Given the description of an element on the screen output the (x, y) to click on. 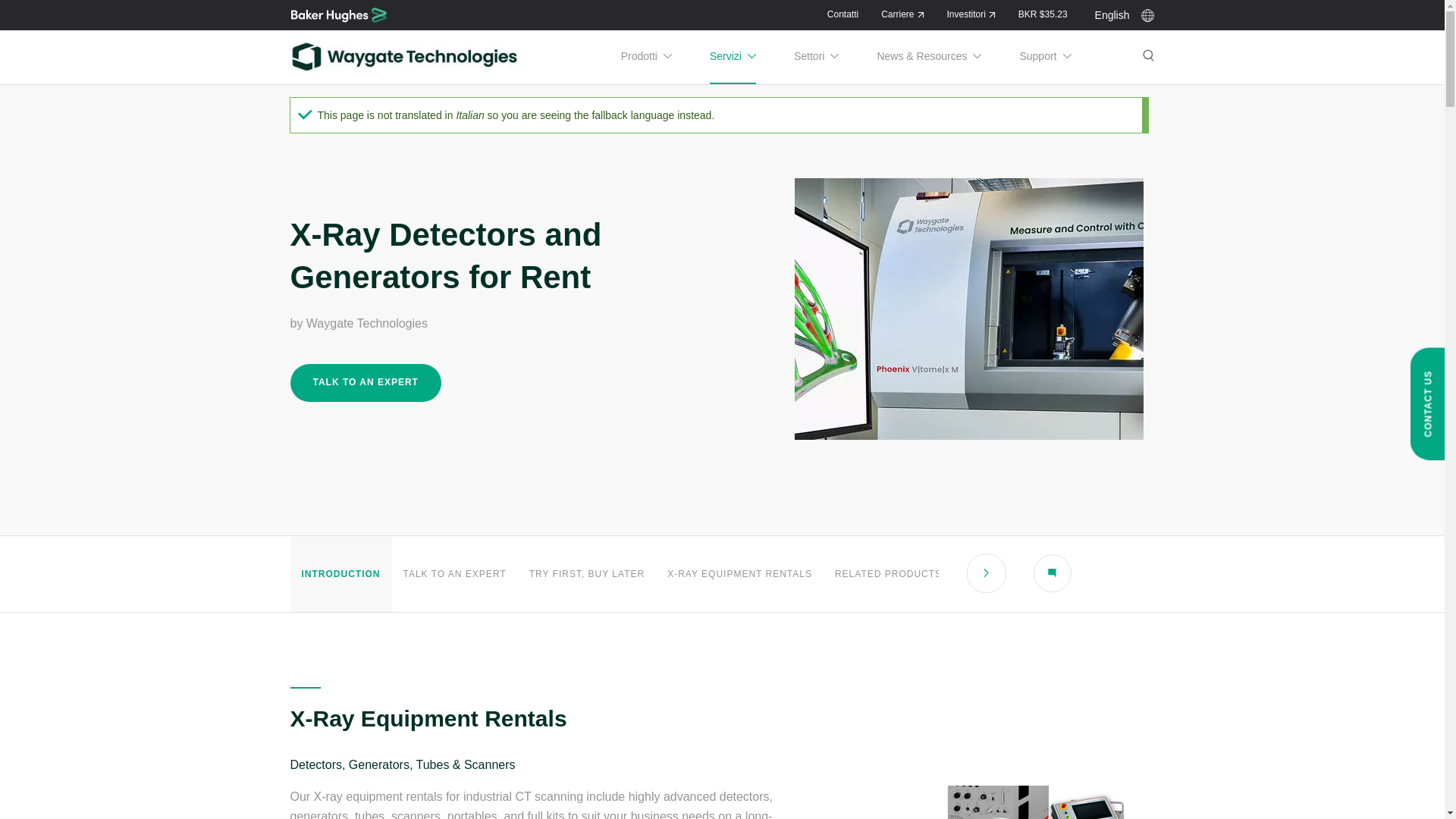
Prodotti (646, 55)
Contatti (843, 14)
carriere in baker hughes (901, 14)
Tecnologie Waygate Home (402, 56)
Investitori (970, 14)
baker hughes investor relations (970, 14)
Carriere (901, 14)
Prezzo delle azioni Baker Hughes (1042, 14)
Home (338, 14)
